Given the description of an element on the screen output the (x, y) to click on. 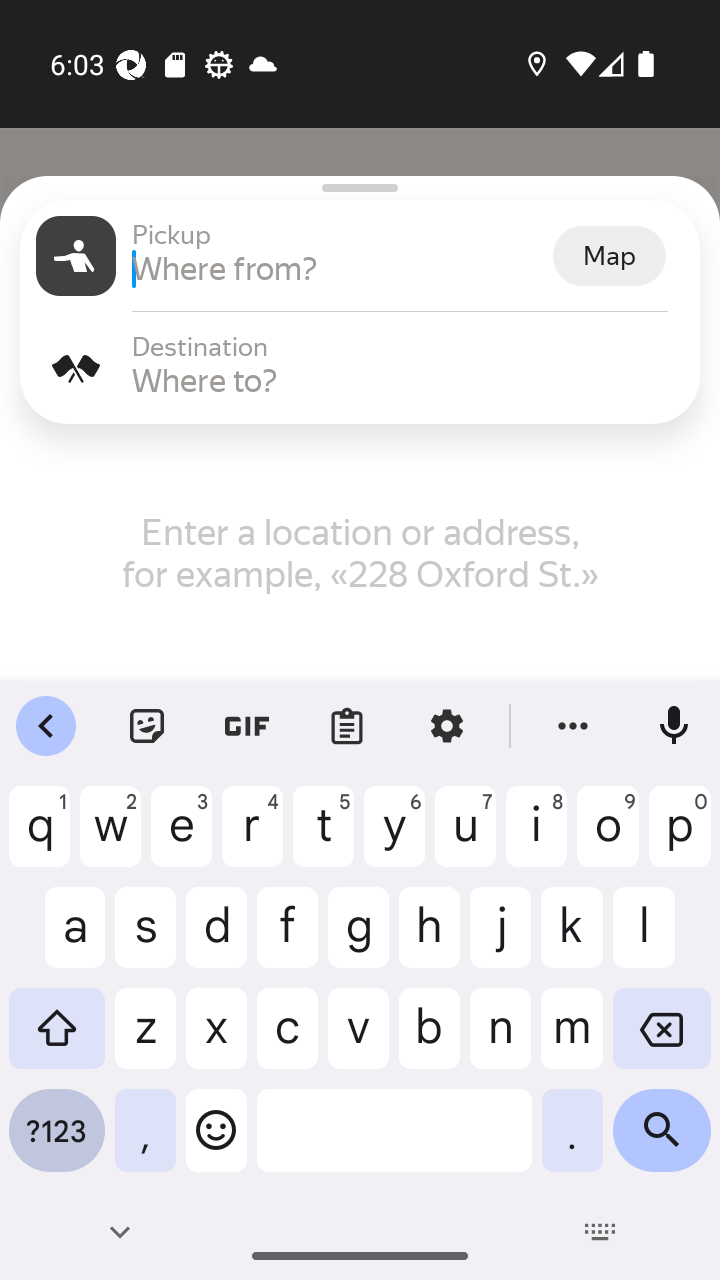
Pickup Pickup Where from? Map (359, 255)
Map (609, 256)
Where from? (340, 268)
Destination Destination Where to? (359, 367)
Where to? (407, 380)
